Given the description of an element on the screen output the (x, y) to click on. 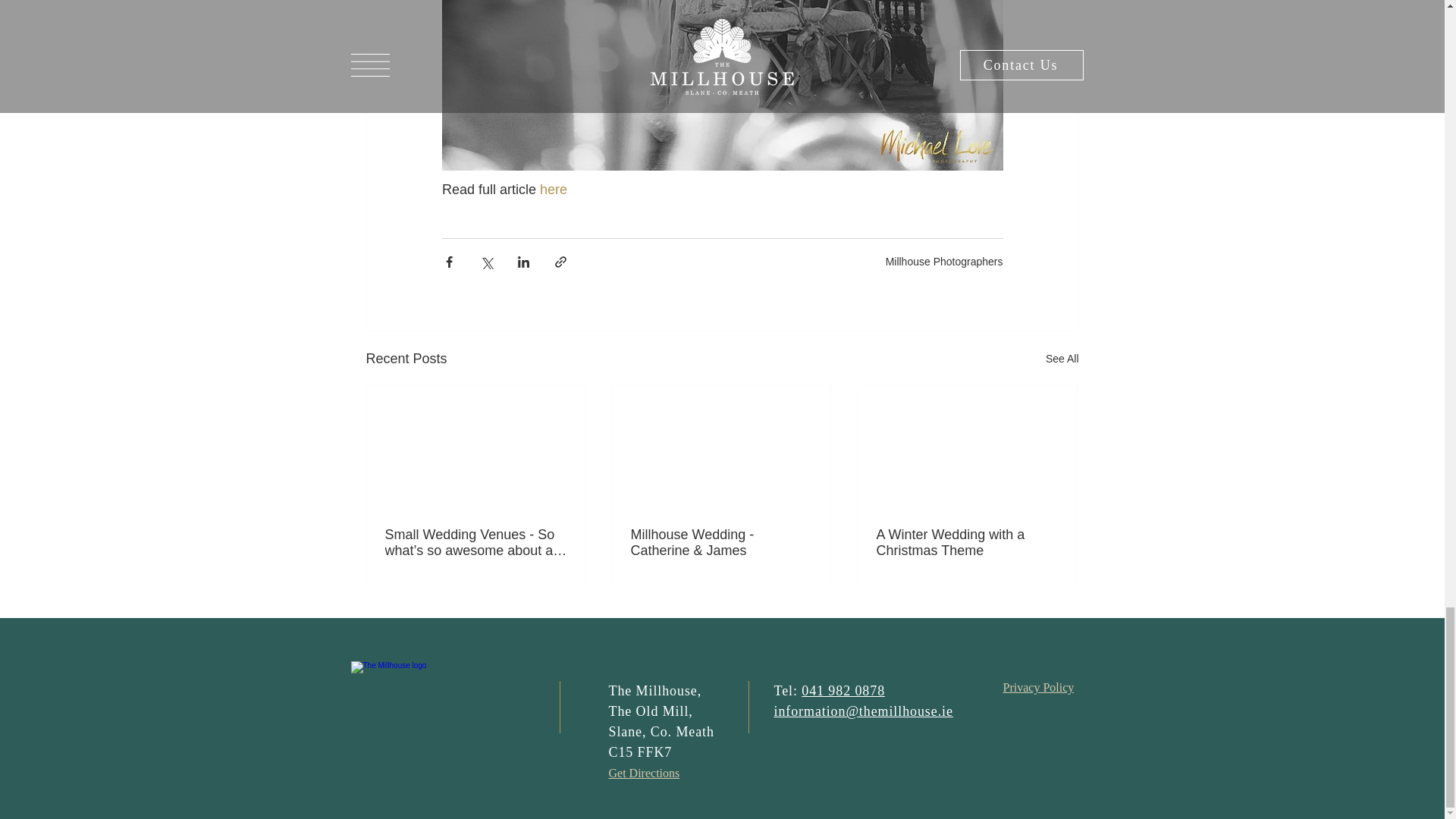
041 982 0878 (843, 690)
See All (1061, 359)
Millhouse Photographers (944, 261)
Privacy Policy (1038, 686)
A Winter Wedding with a Christmas Theme (967, 542)
Get Directions (643, 772)
here (553, 189)
